Given the description of an element on the screen output the (x, y) to click on. 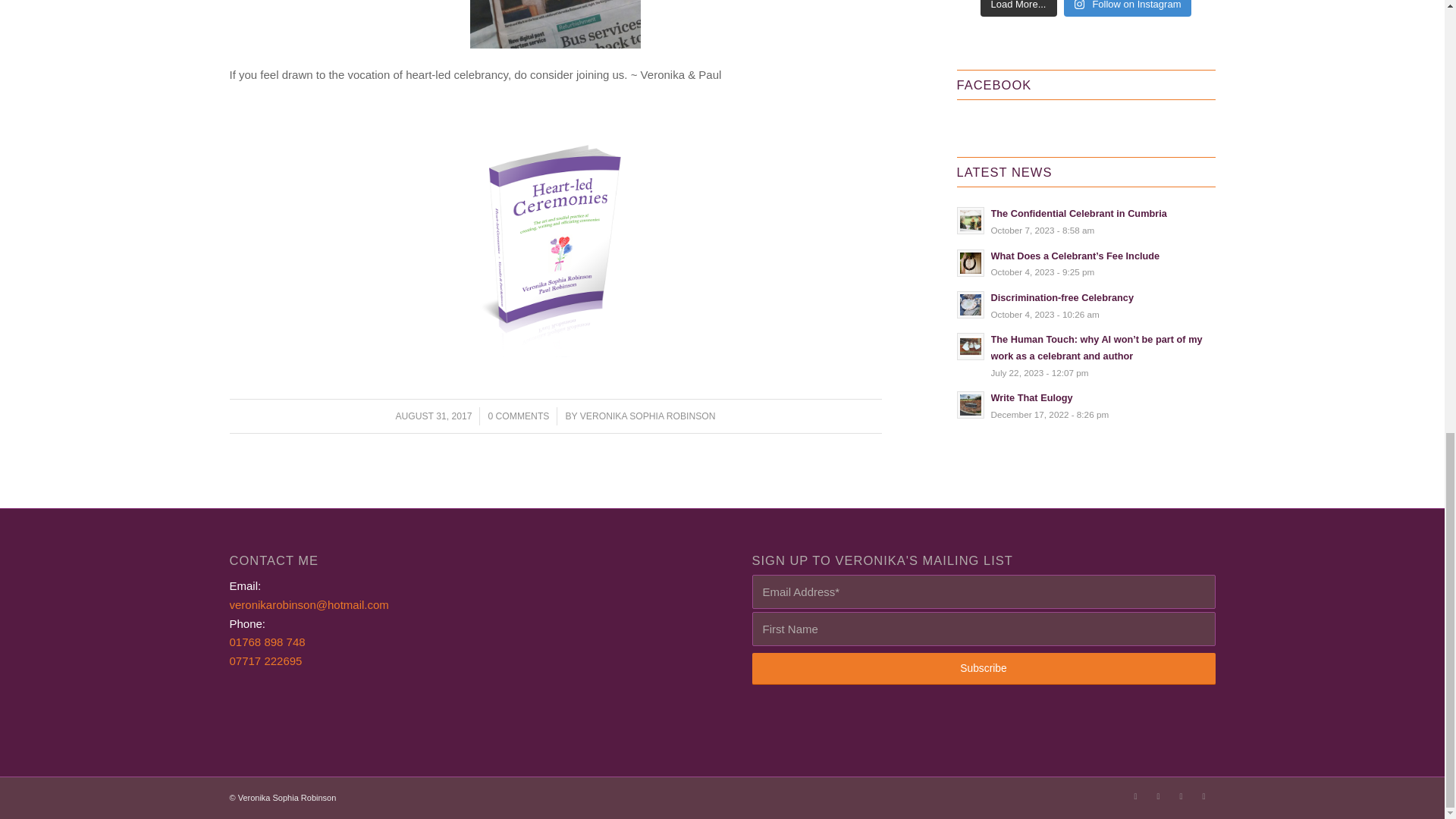
VERONIKA SOPHIA ROBINSON (647, 416)
The Confidential Celebrant in Cumbria (1085, 220)
Posts by Veronika Sophia Robinson (647, 416)
0 COMMENTS (517, 416)
Subscribe (983, 668)
